Given the description of an element on the screen output the (x, y) to click on. 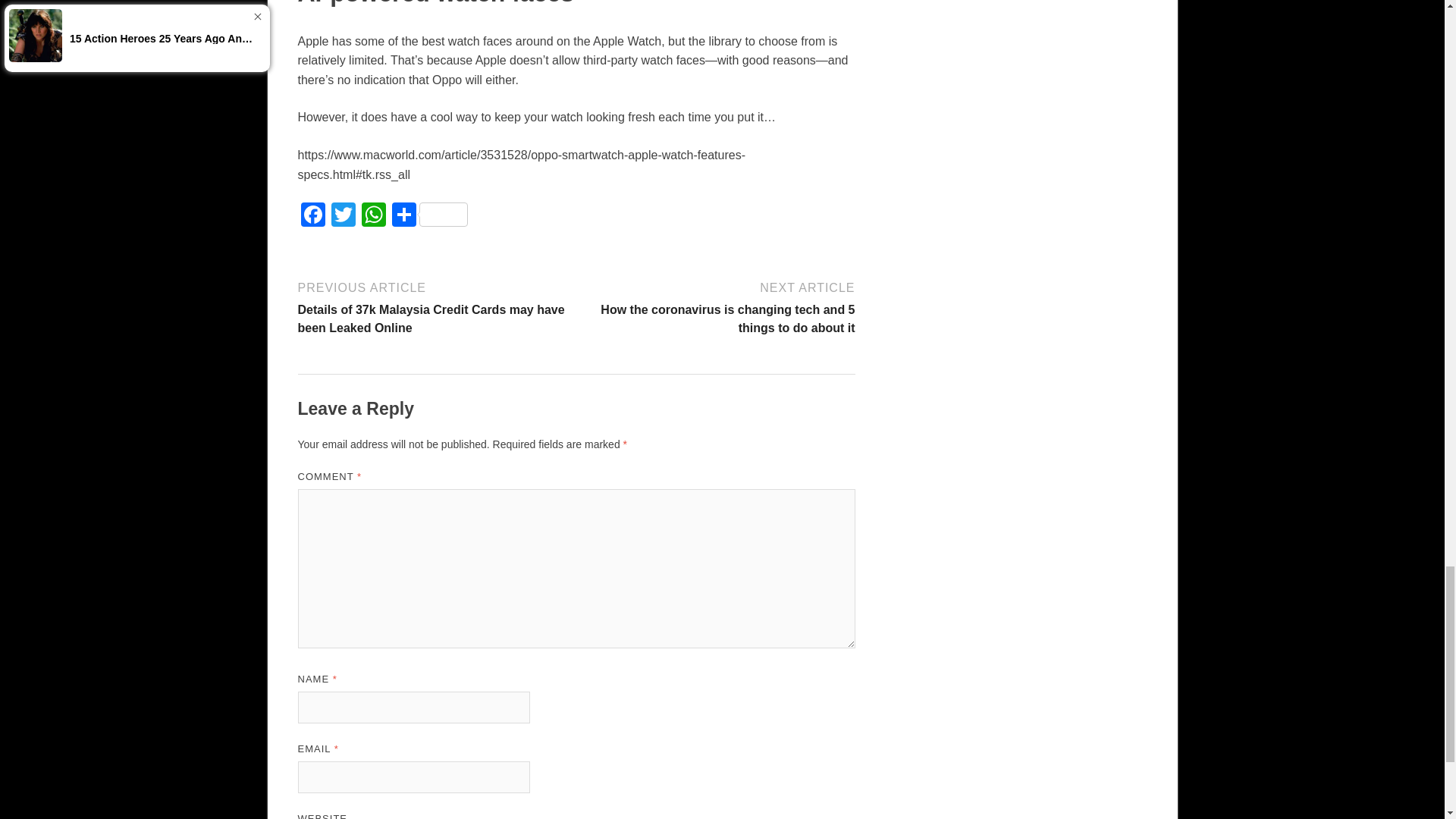
Facebook (312, 216)
Facebook (312, 216)
WhatsApp (373, 216)
Share (429, 216)
Twitter (342, 216)
WhatsApp (373, 216)
Twitter (342, 216)
